Given the description of an element on the screen output the (x, y) to click on. 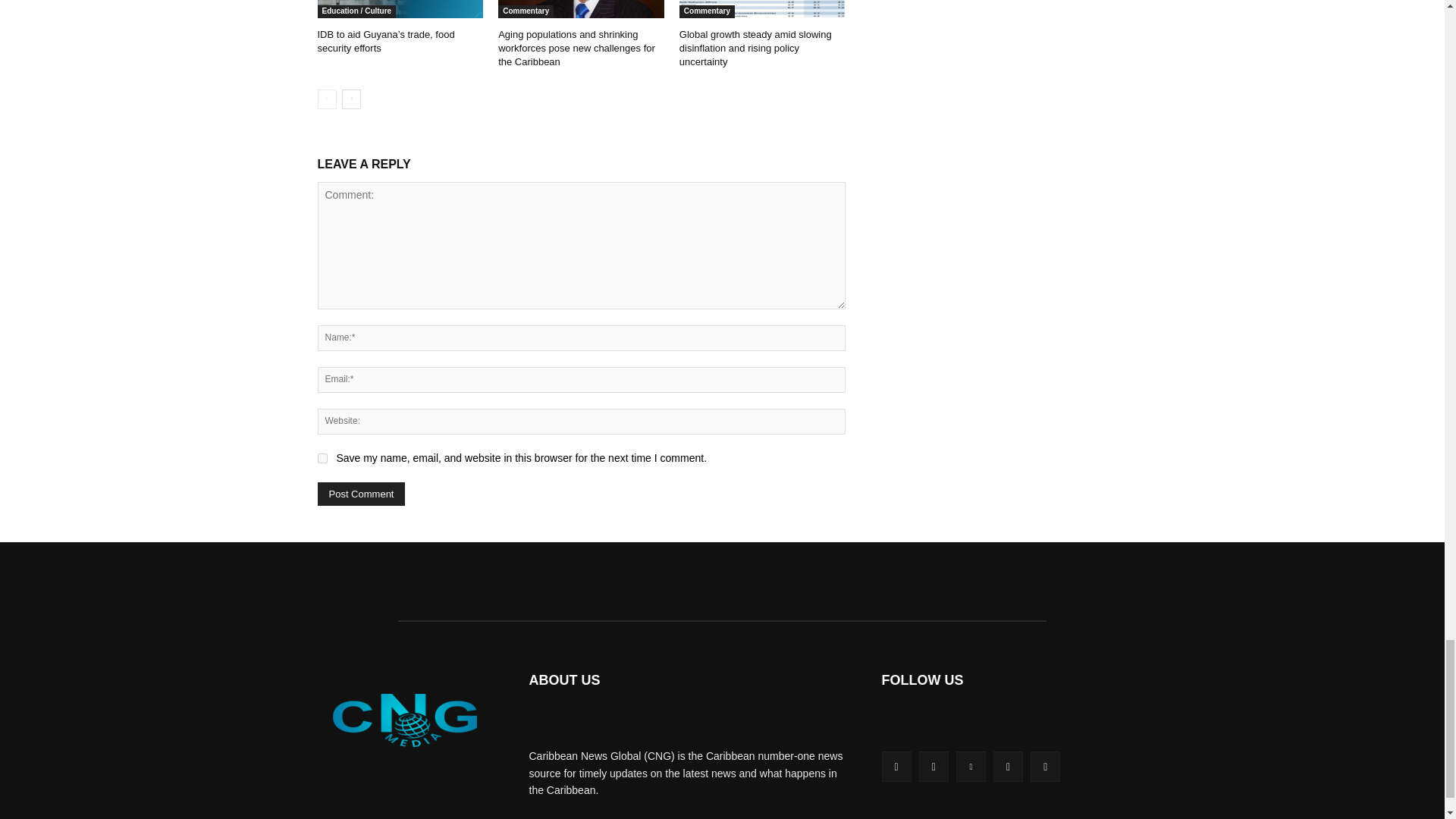
yes (321, 458)
Post Comment (360, 494)
